Given the description of an element on the screen output the (x, y) to click on. 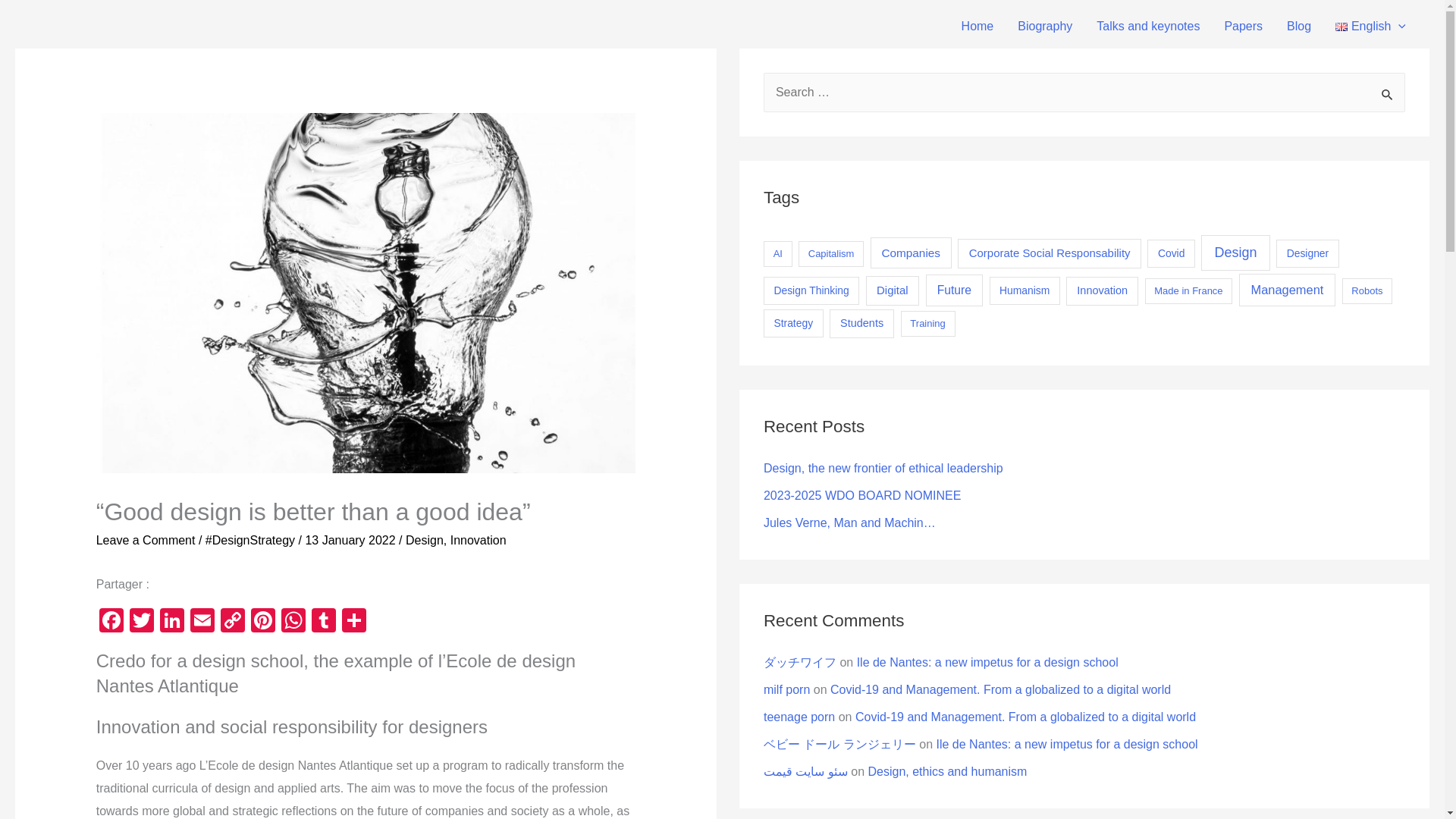
Tumblr (323, 622)
Pinterest (262, 622)
Leave a Comment (145, 540)
Email (201, 622)
Twitter (141, 622)
English (1370, 26)
Design (425, 540)
LinkedIn (172, 622)
Twitter (141, 622)
Papers (1243, 26)
